Given the description of an element on the screen output the (x, y) to click on. 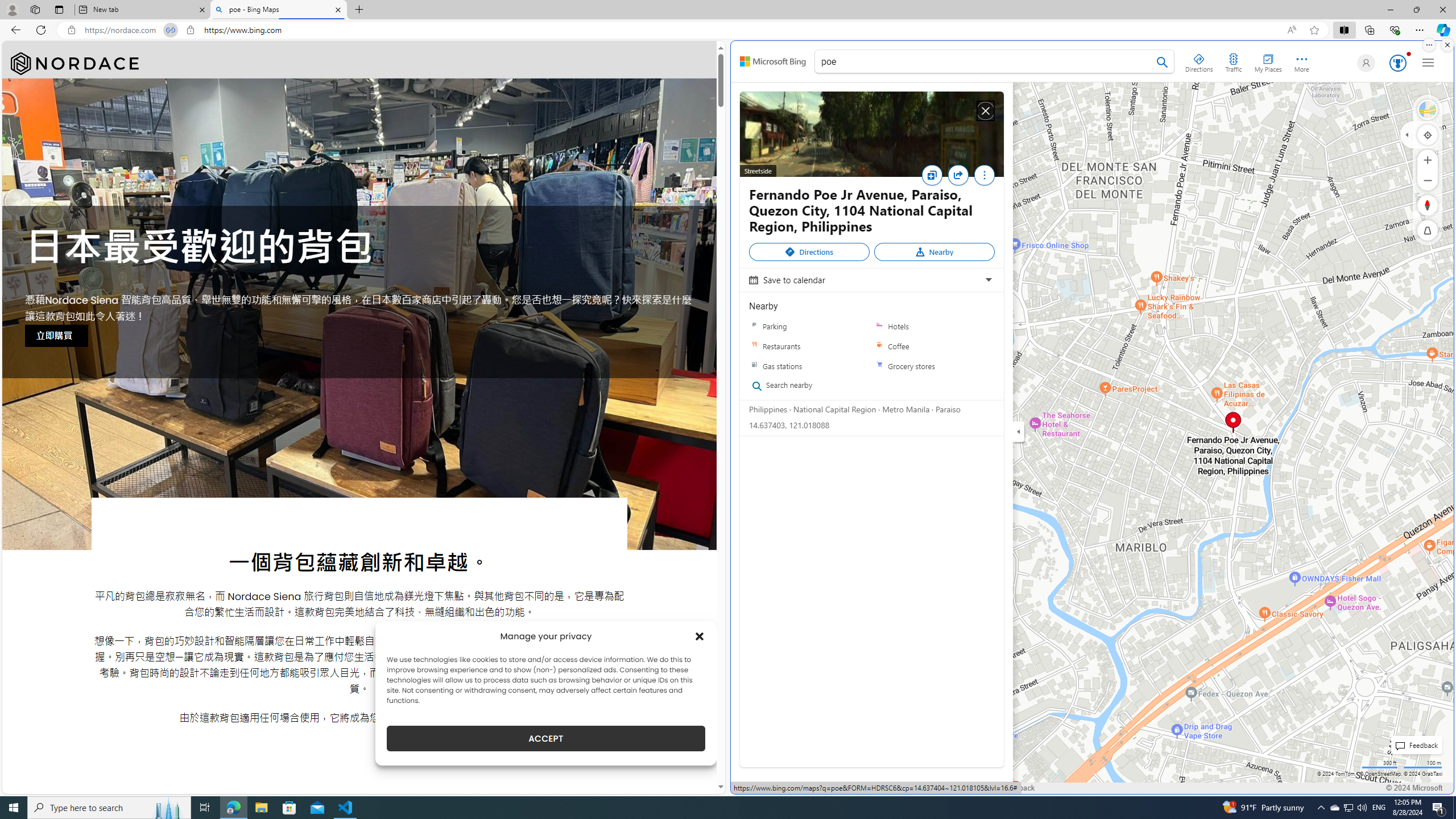
Expand/Collapse Cards (1019, 431)
Address and search bar (680, 29)
Rotate Right (1416, 205)
Minimize (1390, 9)
My Places (1267, 60)
More (984, 177)
Split screen (1344, 29)
Bird's eye (1427, 109)
Settings and quick links (1428, 62)
Class: sbElement (772, 60)
Save to calendar (869, 279)
Restore (1416, 9)
Streetside (1427, 109)
Collections (1369, 29)
Close (985, 110)
